Given the description of an element on the screen output the (x, y) to click on. 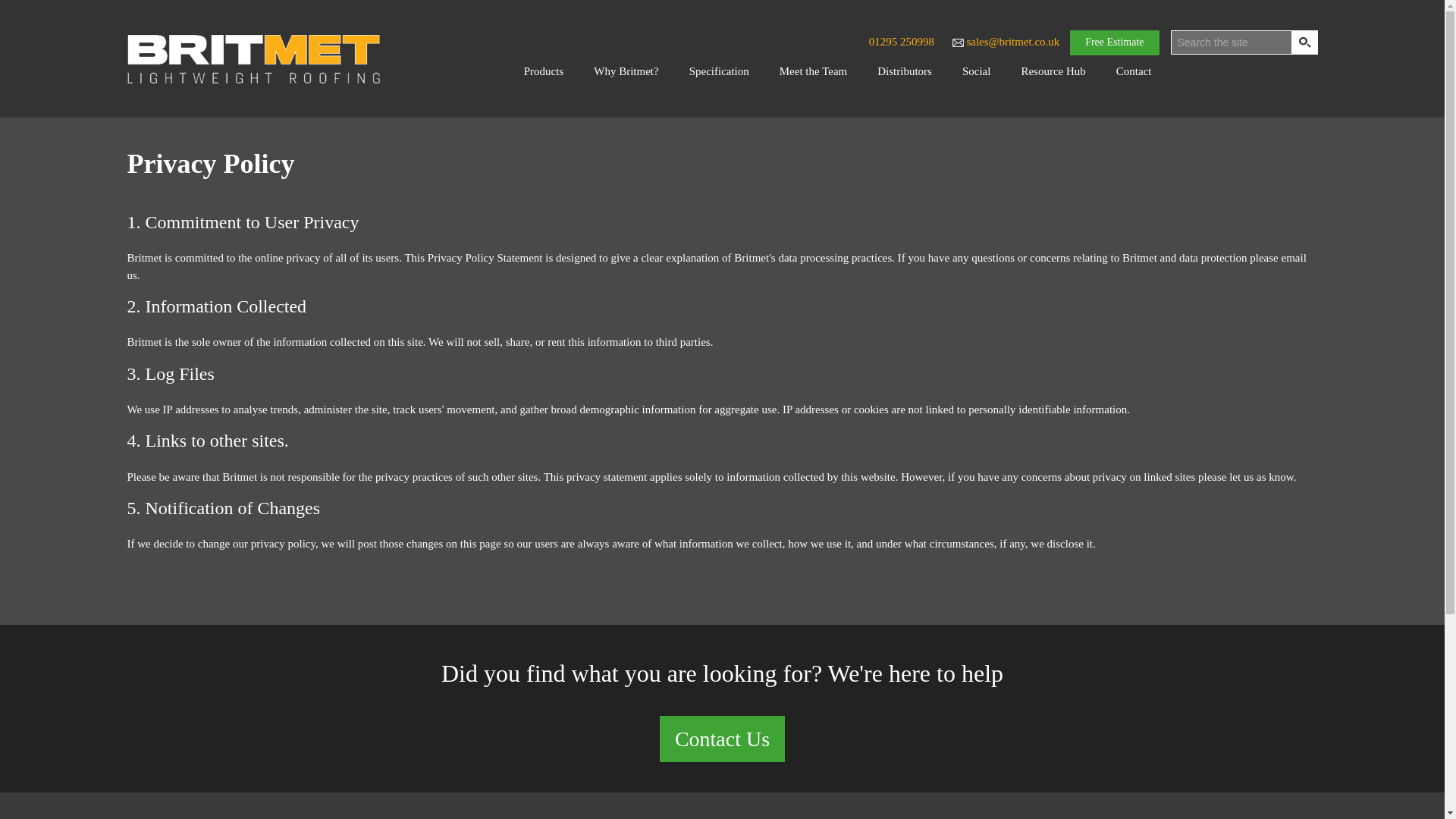
Free Estimate (1114, 42)
Resource Hub (1053, 70)
Social (976, 70)
Specification (719, 70)
Products (544, 70)
01295 250998 (905, 41)
Meet the Team (812, 70)
Why Britmet? (625, 70)
Contact Us (721, 738)
Distributors (904, 70)
